Given the description of an element on the screen output the (x, y) to click on. 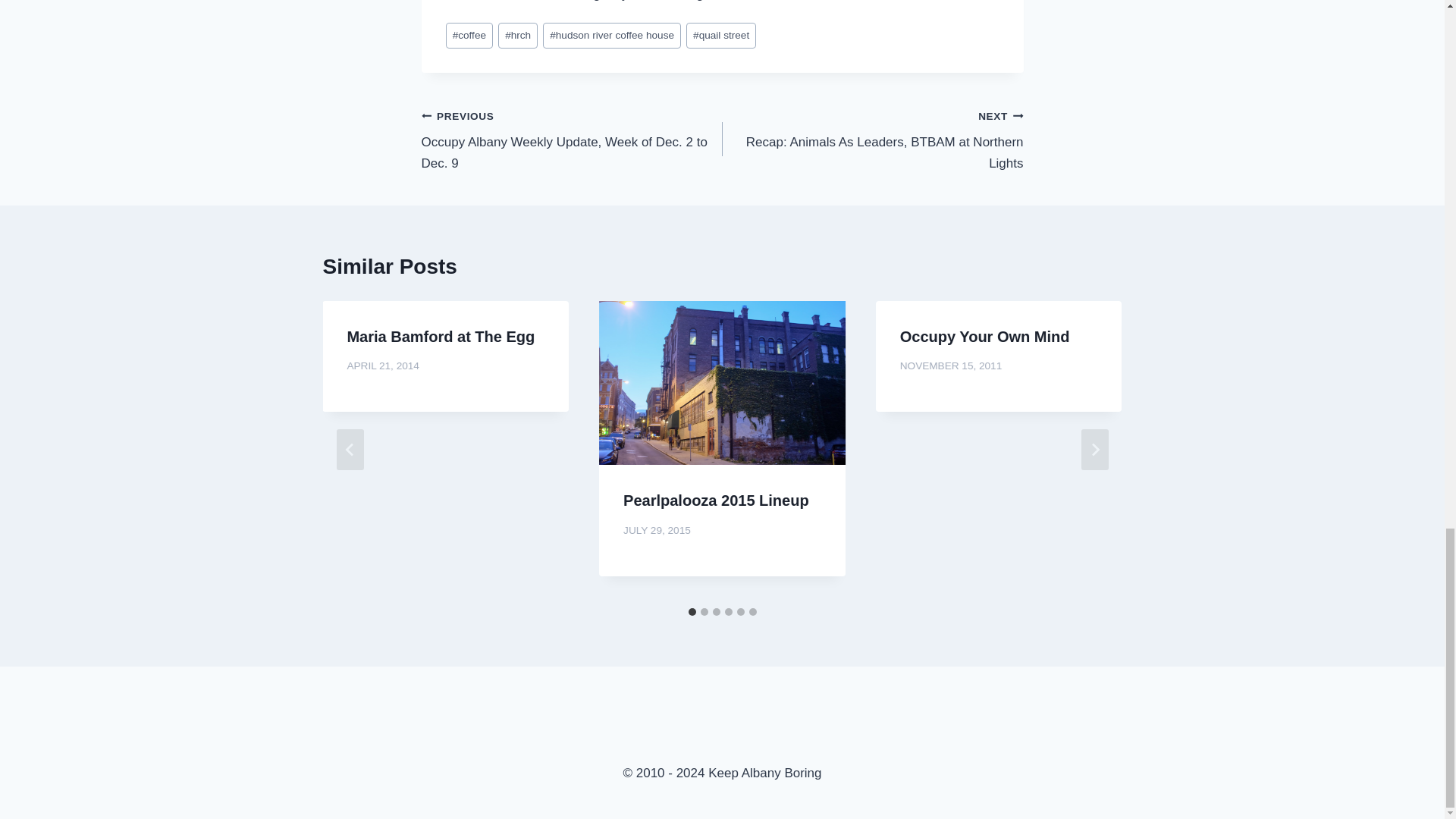
hrch (517, 35)
coffee (469, 35)
hudson river coffee house (612, 35)
quail street (872, 139)
